Given the description of an element on the screen output the (x, y) to click on. 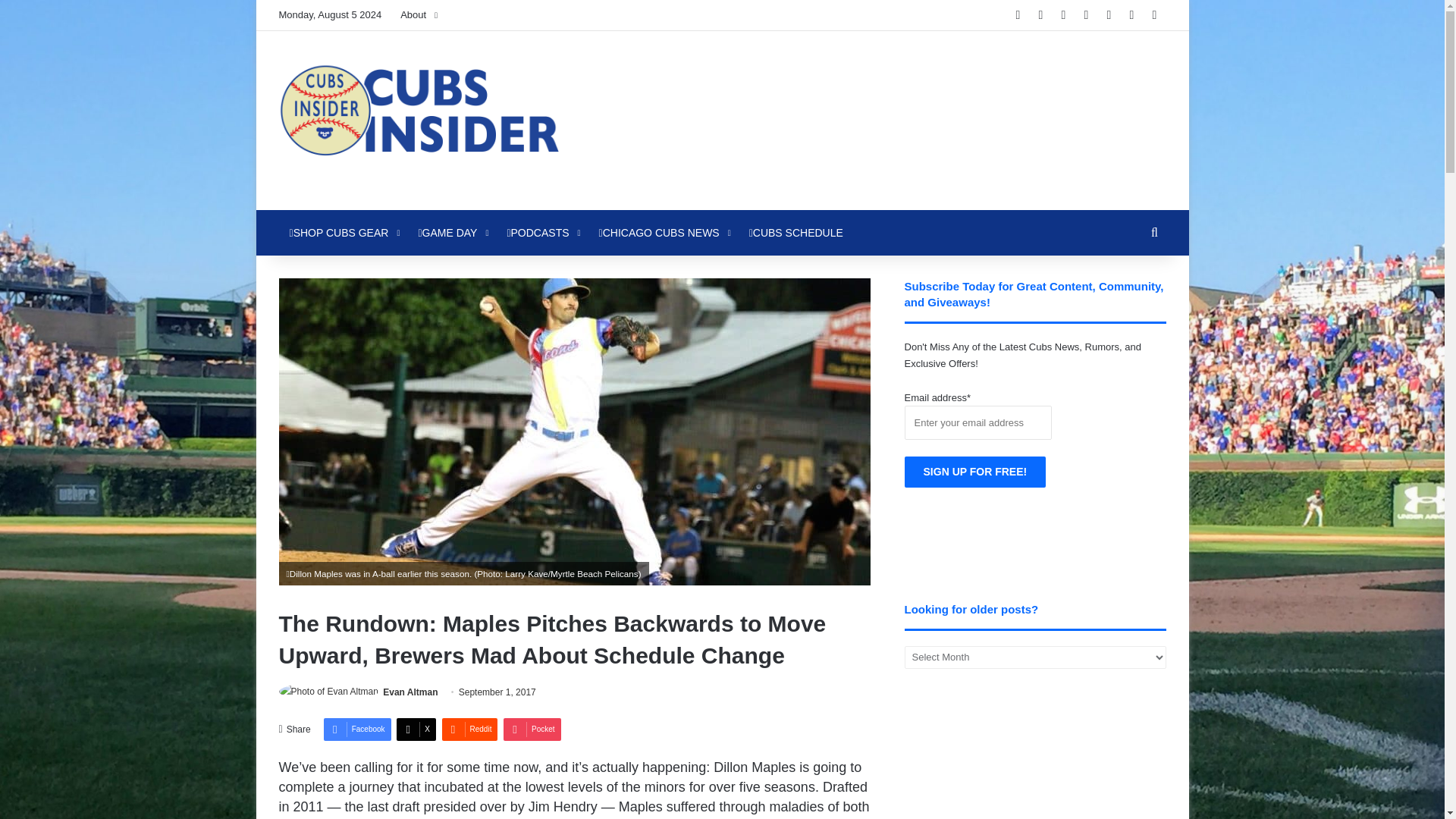
Reddit (469, 729)
Cubs Insider (419, 120)
CHICAGO CUBS NEWS (663, 232)
SHOP CUBS GEAR (343, 232)
Reddit (469, 729)
PODCASTS (542, 232)
Pocket (531, 729)
SIGN UP FOR FREE! (975, 471)
Evan Altman (410, 692)
X (415, 729)
